Given the description of an element on the screen output the (x, y) to click on. 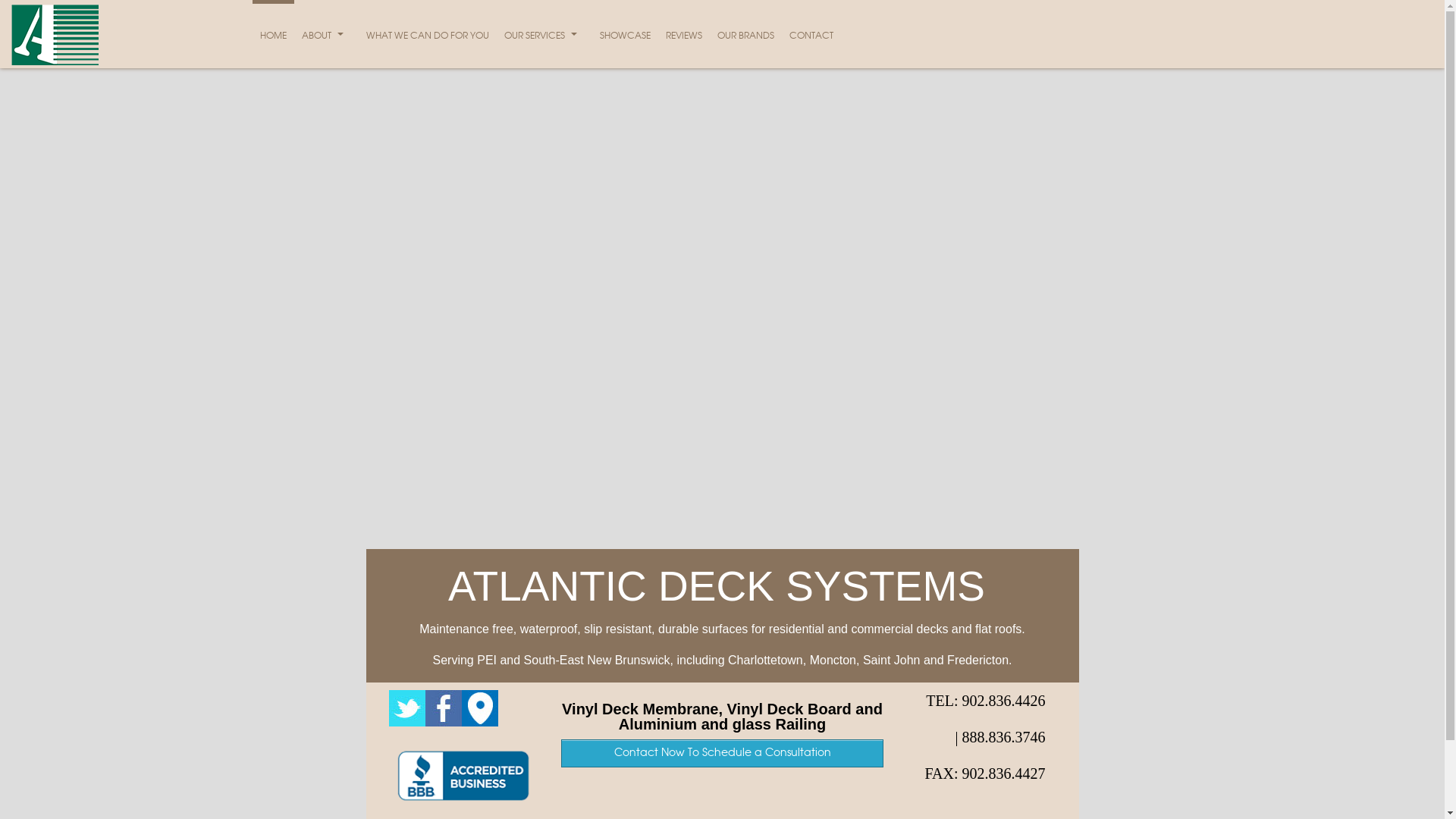
HOME Element type: text (272, 35)
ABOUT Element type: text (326, 35)
Contact Now To Schedule a Consultation Element type: text (722, 753)
OUR SERVICES Element type: text (543, 35)
Google Maps Element type: hover (479, 722)
Twitter Element type: hover (406, 722)
SHOWCASE Element type: text (624, 35)
Facebook Element type: hover (442, 722)
WHAT WE CAN DO FOR YOU Element type: text (426, 35)
888.836.3746 Element type: text (1002, 736)
REVIEWS Element type: text (683, 35)
TEL: 902.836.4426 Element type: text (984, 700)
OUR BRANDS Element type: text (745, 35)
CONTACT Element type: text (810, 35)
